Given the description of an element on the screen output the (x, y) to click on. 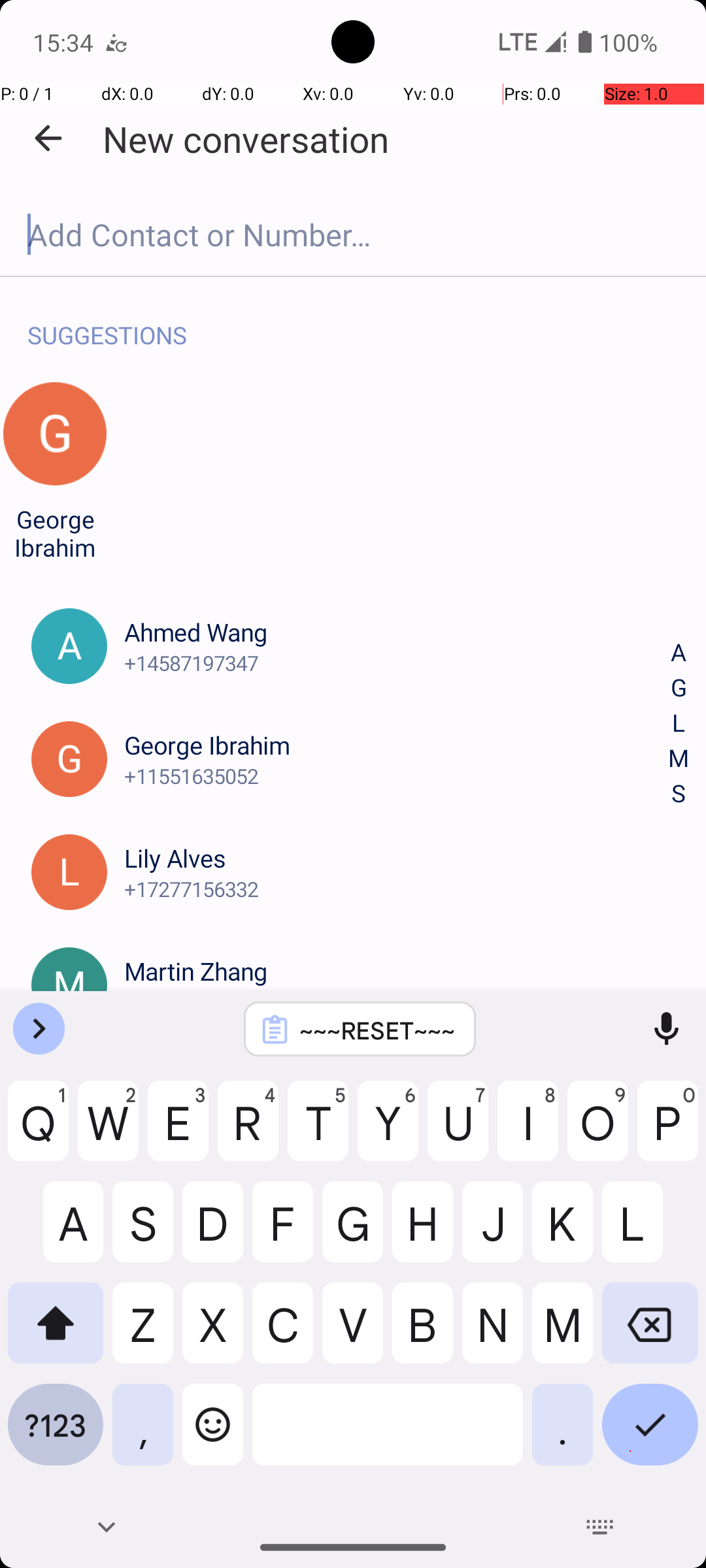
SUGGESTIONS Element type: android.widget.TextView (106, 321)
A
G
L
M
S Element type: android.widget.TextView (678, 723)
George Ibrahim Element type: android.widget.TextView (54, 532)
Ahmed Wang Element type: android.widget.TextView (397, 631)
+14587197347 Element type: android.widget.TextView (397, 662)
+11551635052 Element type: android.widget.TextView (397, 775)
Lily Alves Element type: android.widget.TextView (397, 857)
+17277156332 Element type: android.widget.TextView (397, 888)
Martin Zhang Element type: android.widget.TextView (397, 970)
+13323191938 Element type: android.widget.TextView (397, 1001)
